Given the description of an element on the screen output the (x, y) to click on. 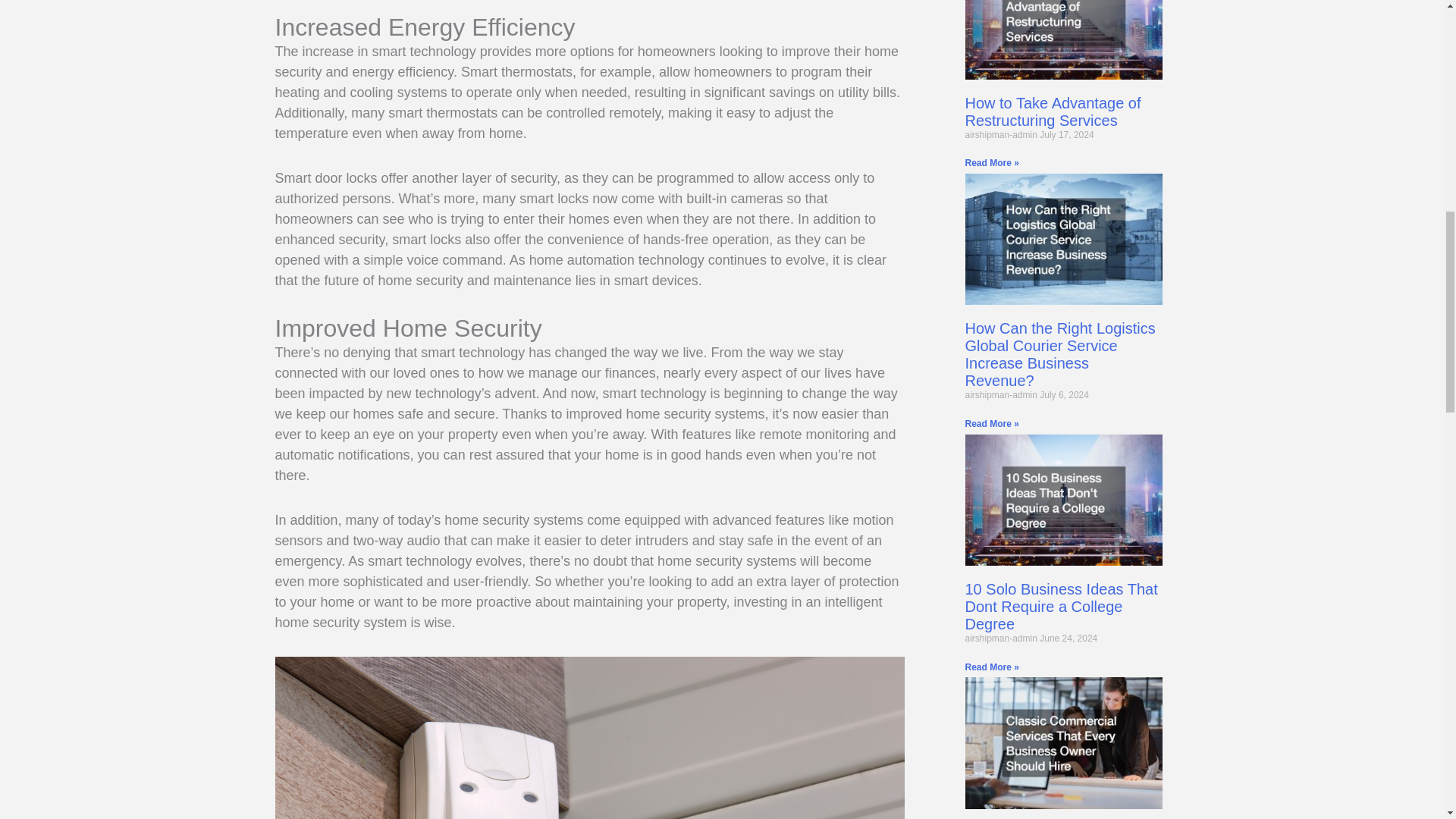
How to Take Advantage of Restructuring Services (1051, 111)
10 Solo Business Ideas That Dont Require a College Degree (1060, 606)
Home security (589, 737)
